Given the description of an element on the screen output the (x, y) to click on. 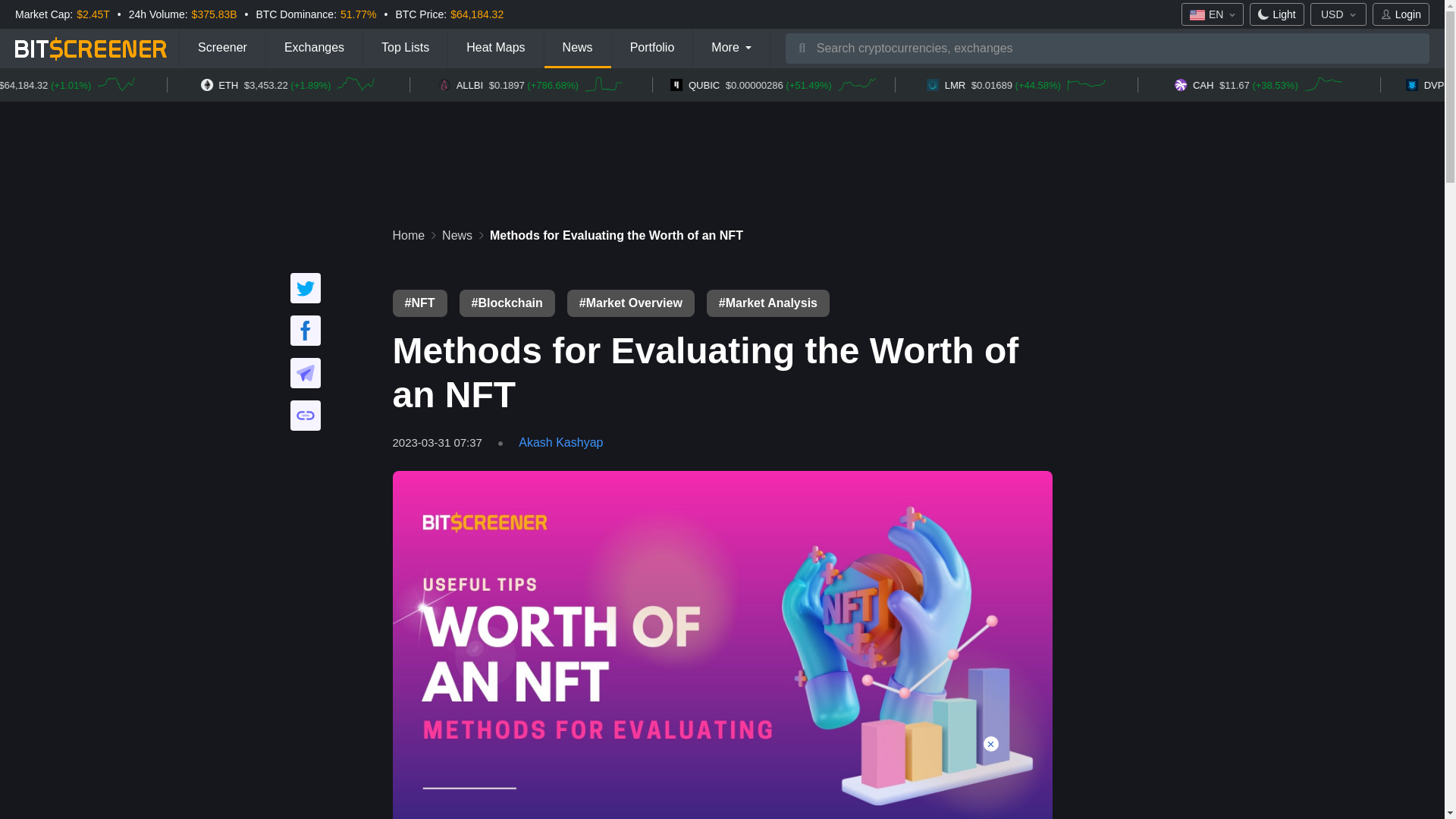
Screener (221, 47)
Advertisement (721, 785)
Heat Maps (495, 47)
Top Lists (404, 47)
News (577, 47)
Portfolio (652, 47)
Exchanges (314, 47)
Advertisement (721, 147)
